Given the description of an element on the screen output the (x, y) to click on. 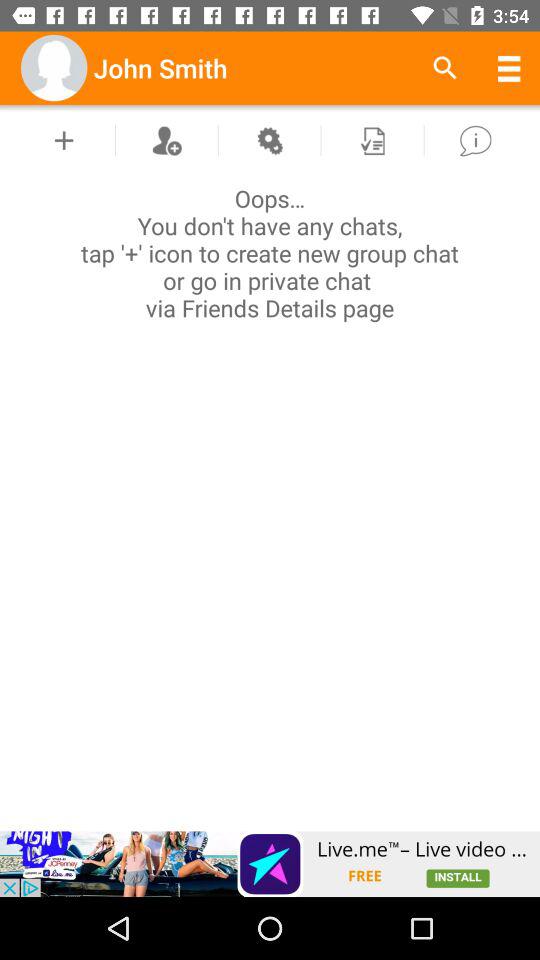
information box (475, 140)
